Given the description of an element on the screen output the (x, y) to click on. 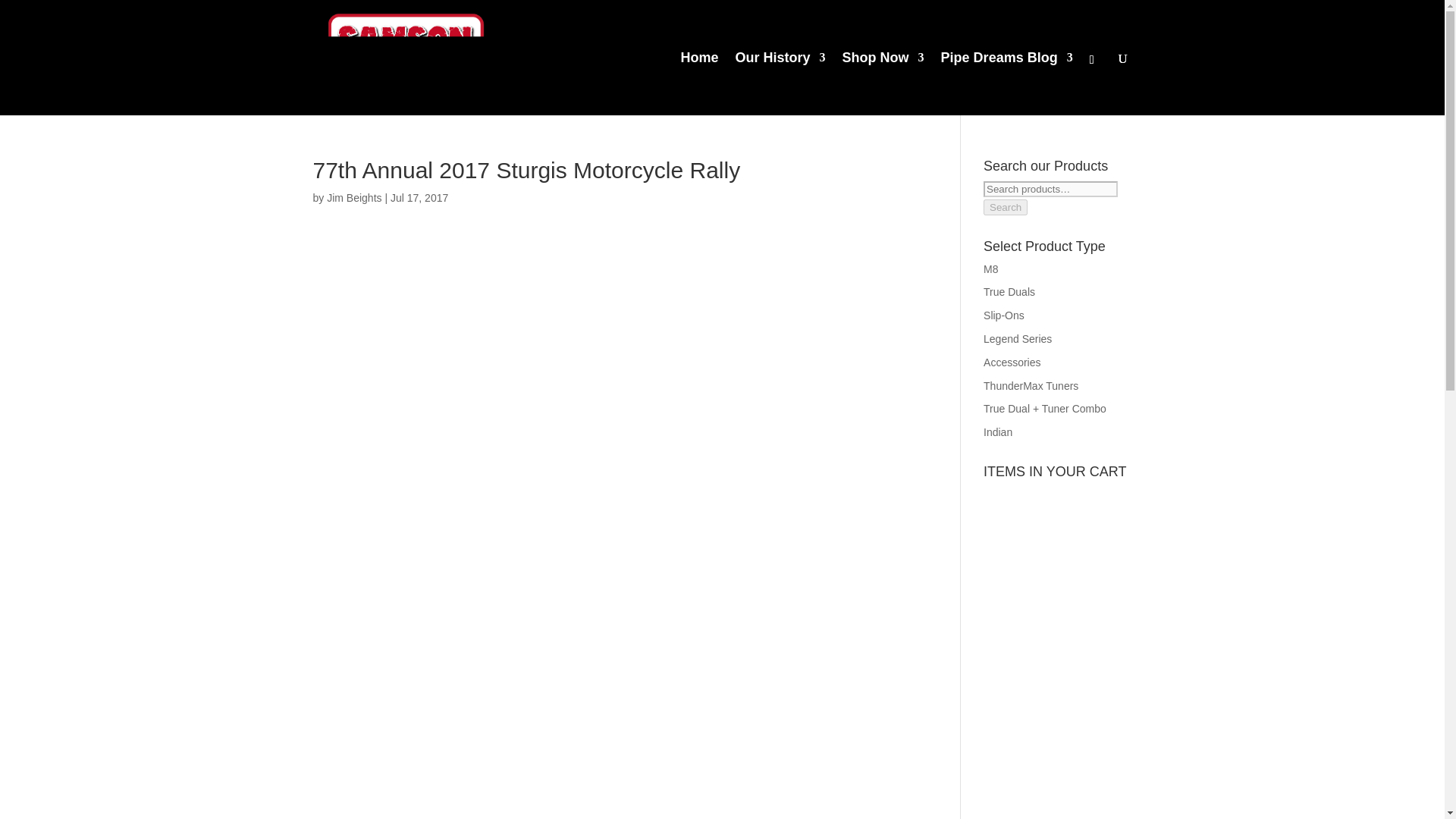
Search (1005, 207)
Indian (997, 431)
ThunderMax Tuners (1031, 386)
M8 (990, 268)
Our History (780, 83)
Jim Beights (353, 197)
Posts by Jim Beights (353, 197)
Legend Series (1017, 338)
Accessories (1012, 362)
Shop Now (883, 83)
